Given the description of an element on the screen output the (x, y) to click on. 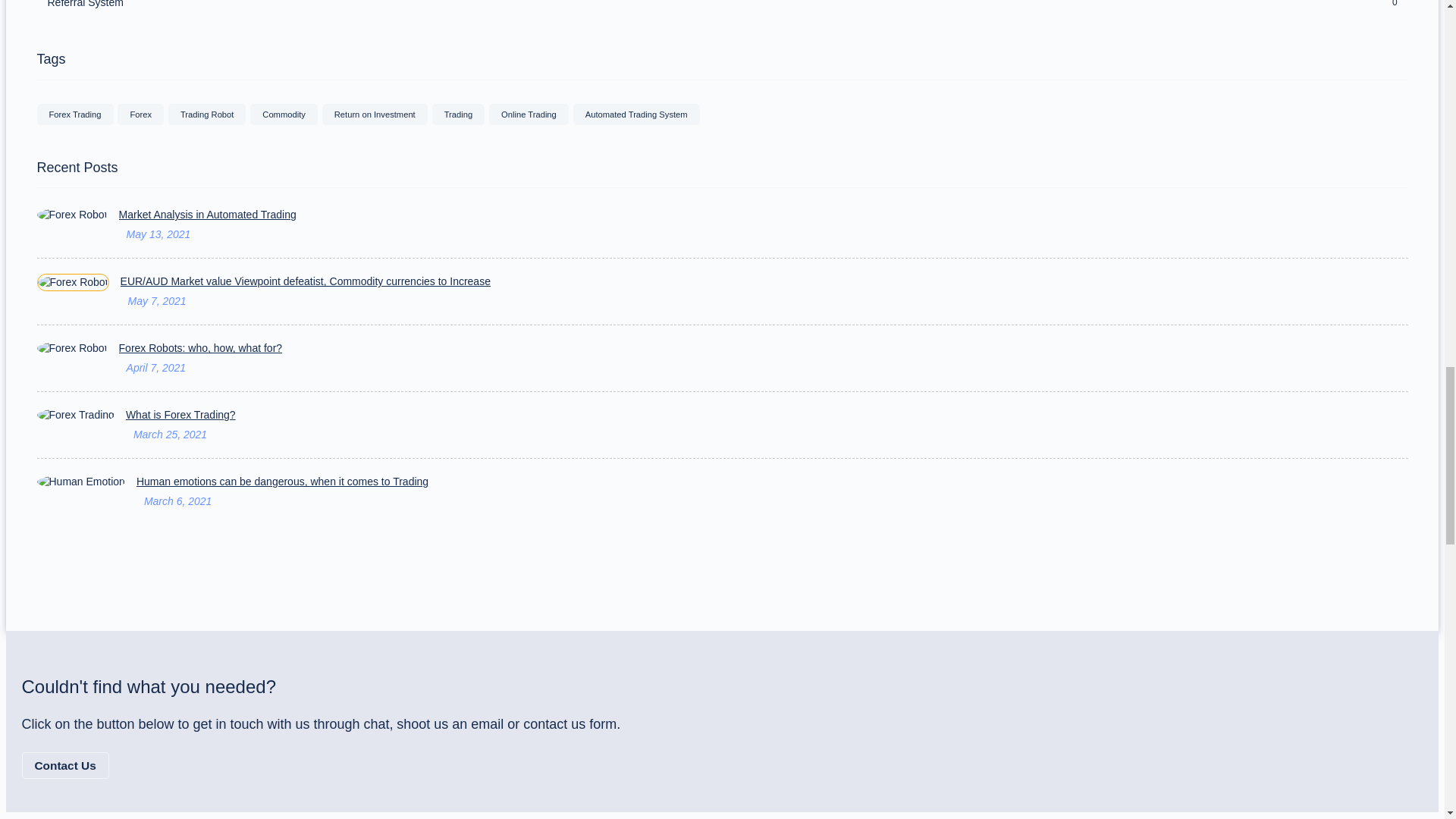
Forex Robots: who, how, what for? (763, 348)
What is Forex Trading? (766, 415)
Human emotions can be dangerous, when it comes to Trading (771, 481)
Market Analysis in Automated Trading (763, 214)
Contact Us (64, 765)
